Given the description of an element on the screen output the (x, y) to click on. 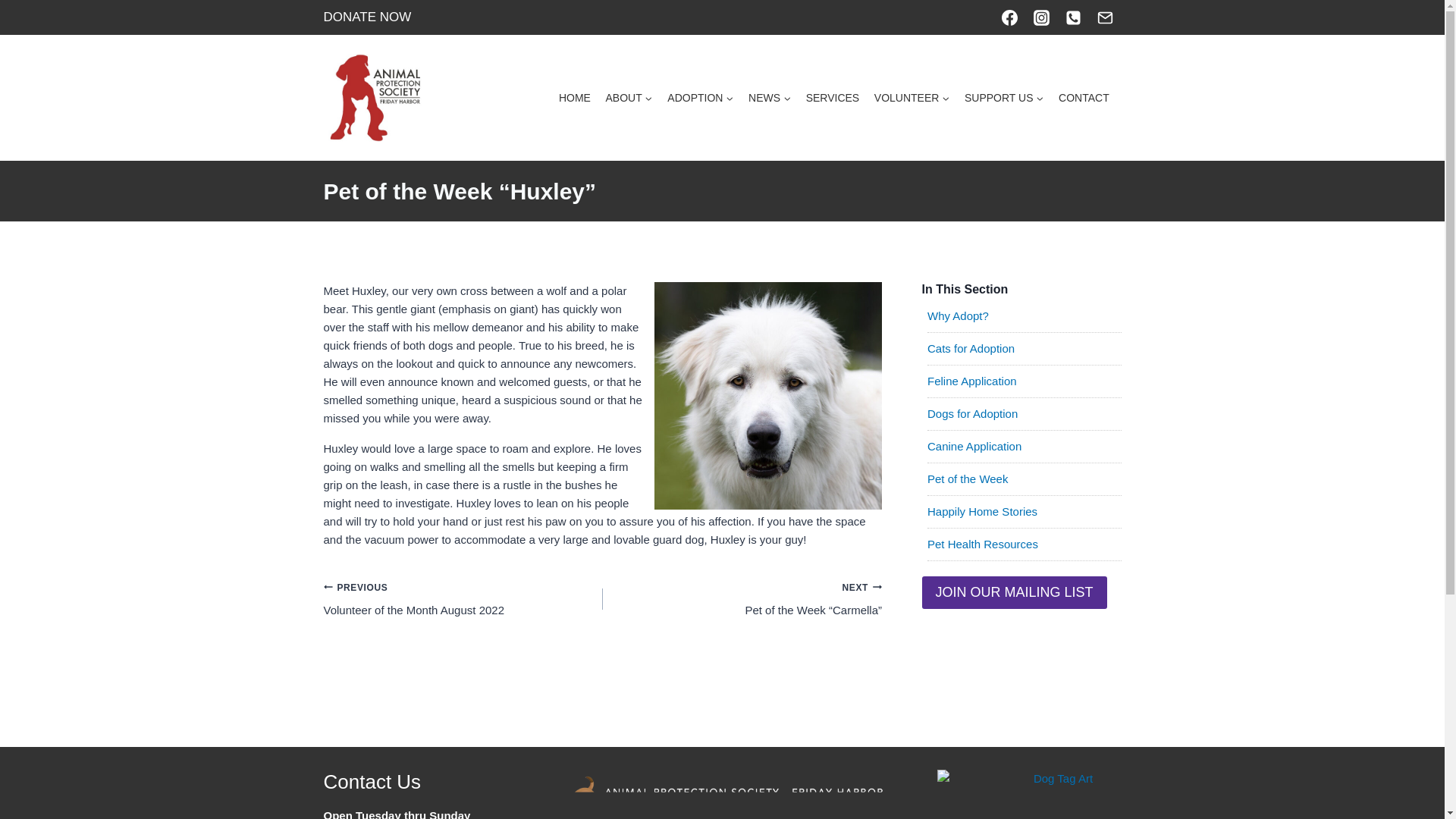
SERVICES (831, 98)
ADOPTION (701, 98)
ABOUT (629, 98)
NEWS (769, 98)
VOLUNTEER (911, 98)
DONATE NOW (366, 16)
HOME (574, 98)
